Given the description of an element on the screen output the (x, y) to click on. 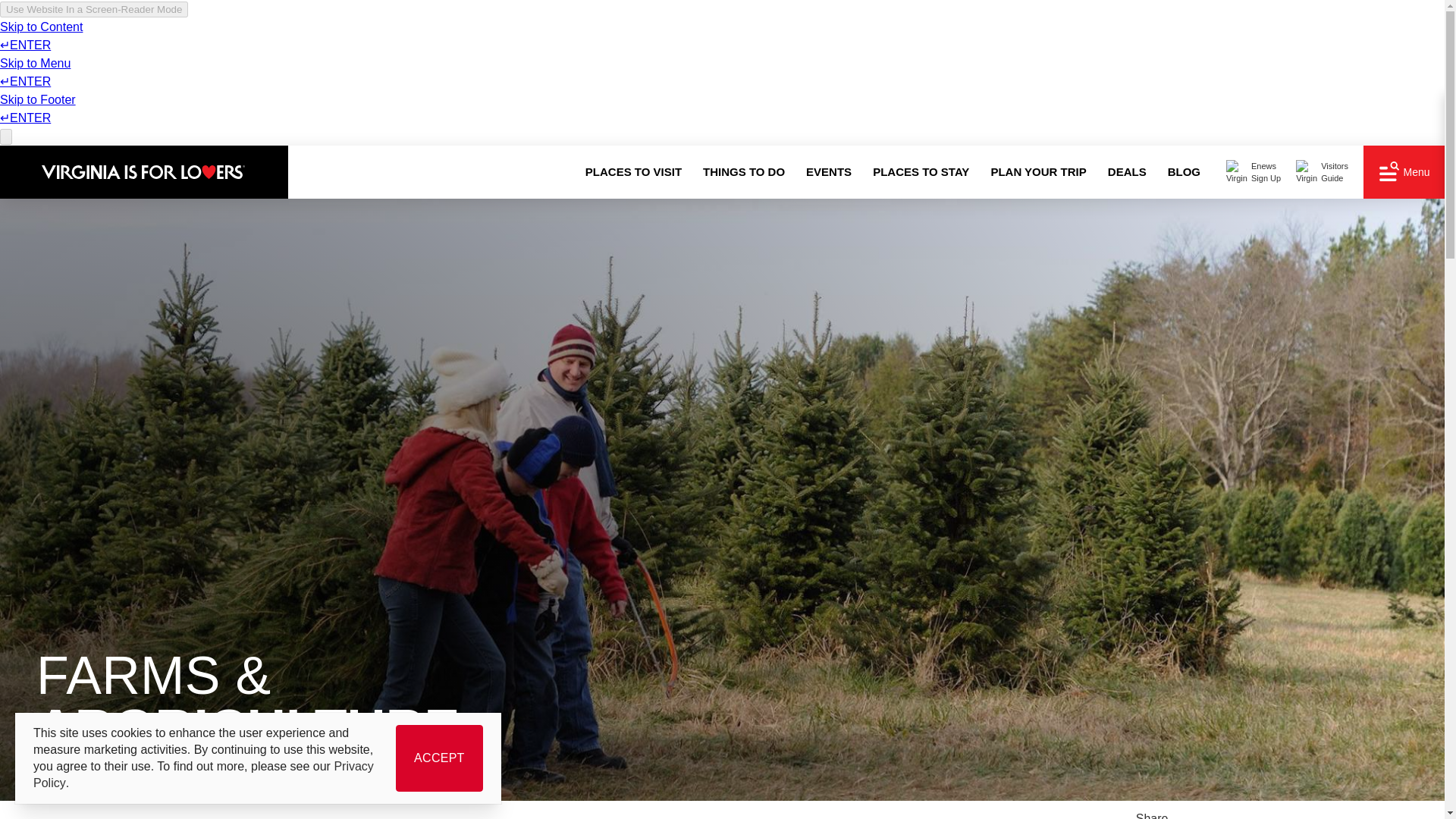
PLACES TO STAY (920, 172)
BLOG (1184, 172)
Menu (1403, 171)
PLAN YOUR TRIP (1037, 172)
PLACES TO VISIT (634, 172)
DEALS (1127, 172)
EVENTS (1321, 171)
THINGS TO DO (827, 172)
